Given the description of an element on the screen output the (x, y) to click on. 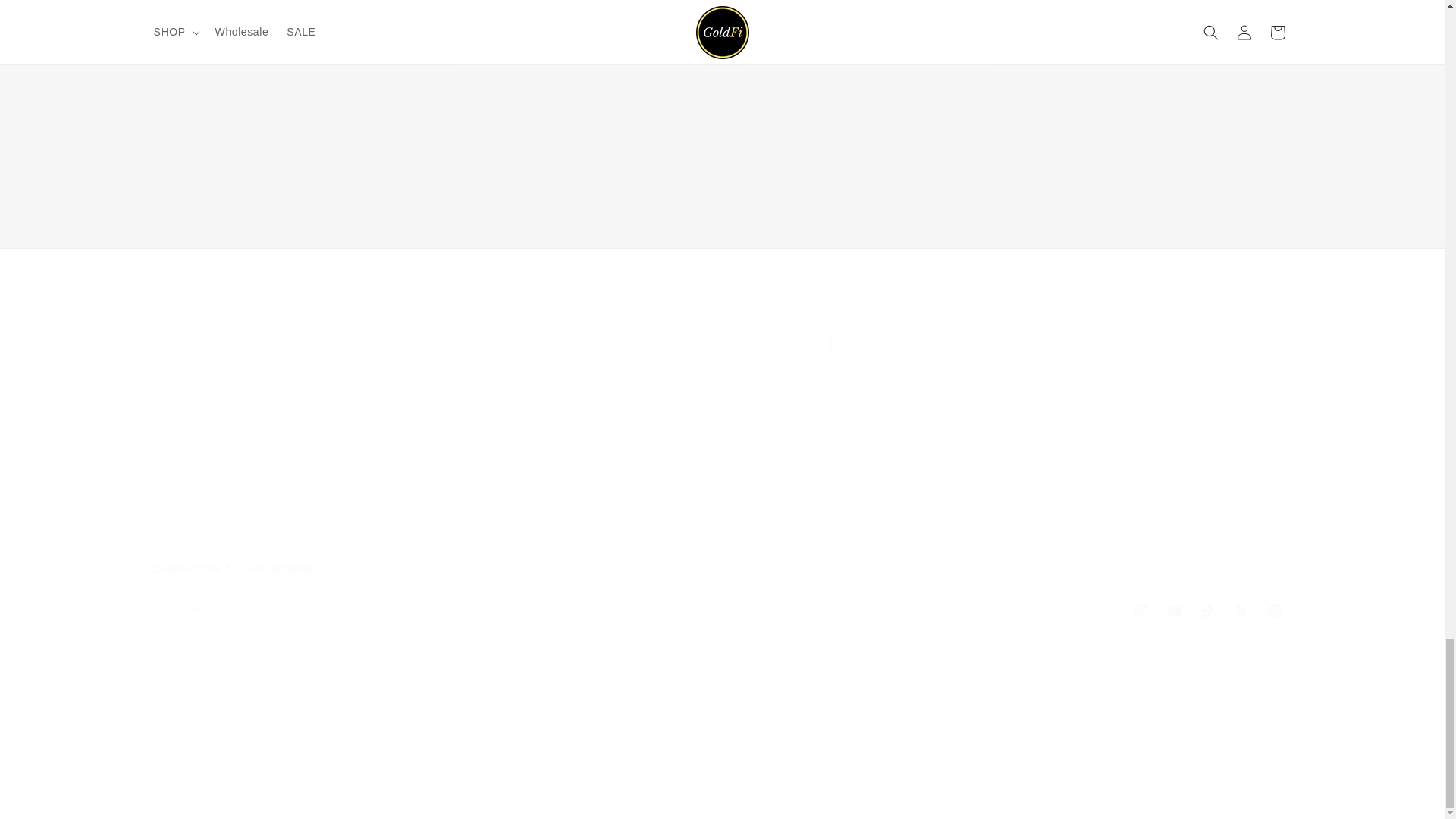
Post comment (510, 217)
